Given the description of an element on the screen output the (x, y) to click on. 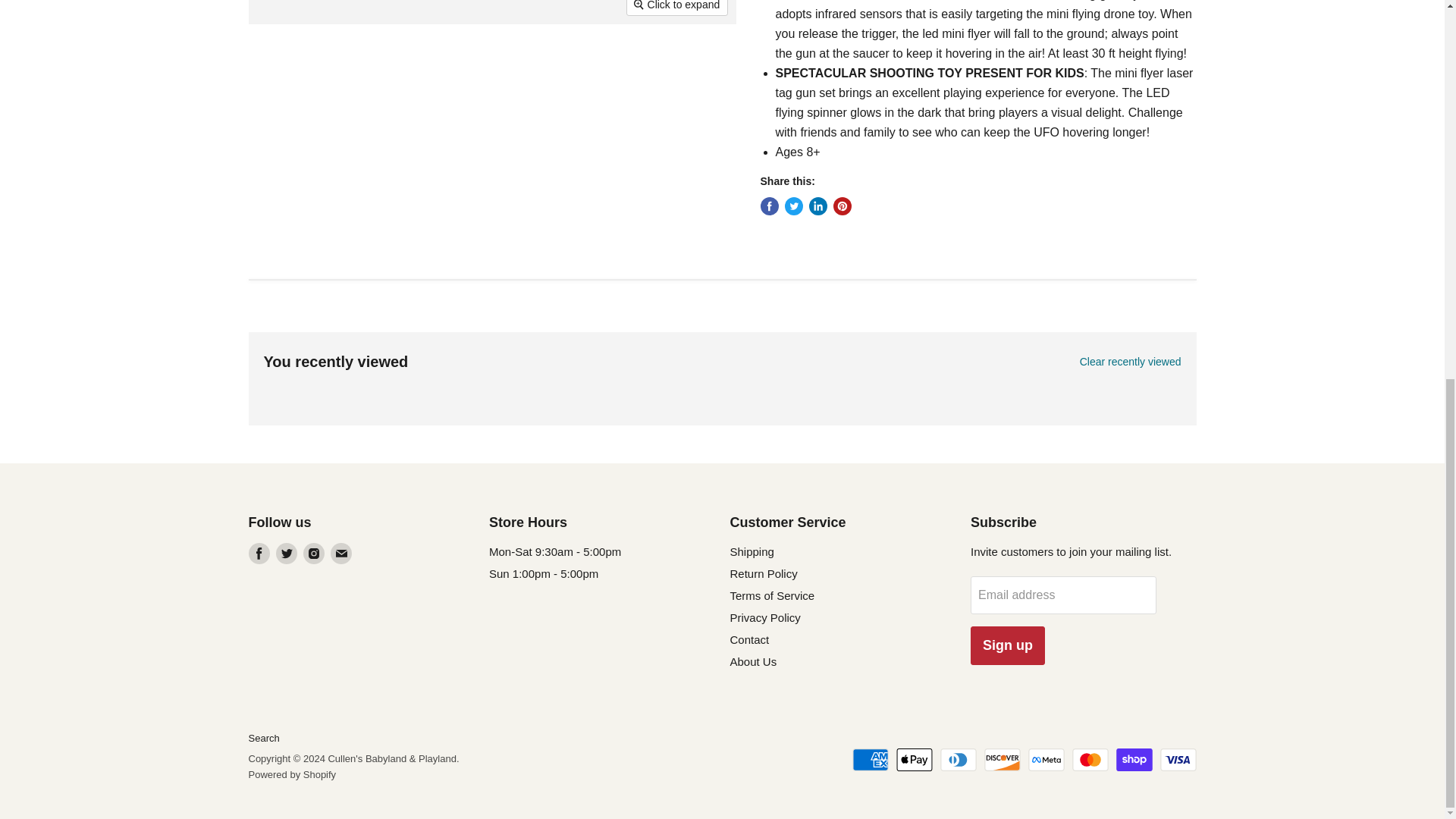
Twitter (286, 553)
Email (341, 553)
Facebook (258, 553)
Instagram (313, 553)
